Given the description of an element on the screen output the (x, y) to click on. 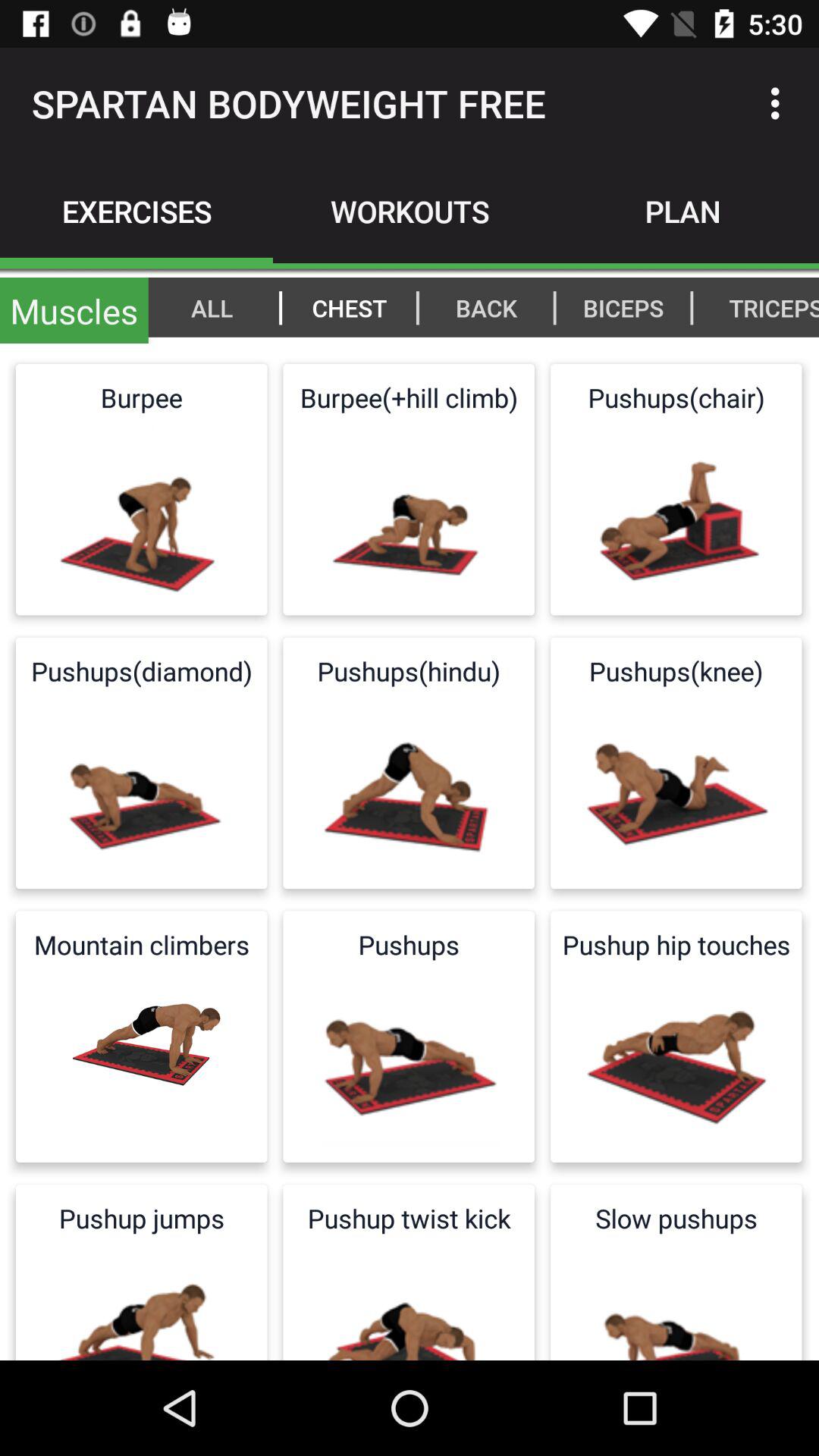
choose the item to the right of exercises icon (409, 211)
